Given the description of an element on the screen output the (x, y) to click on. 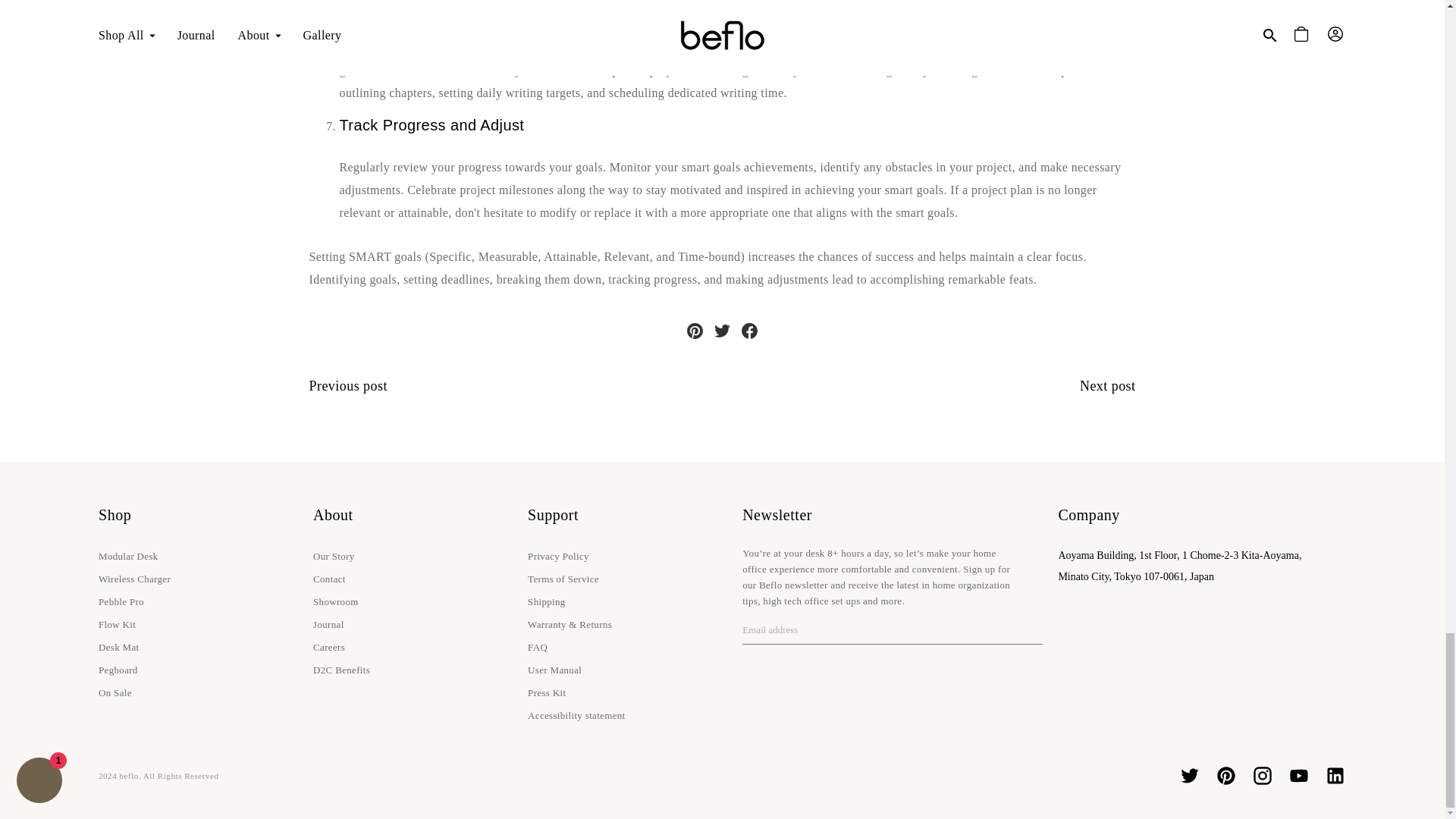
Share to Facebook (748, 330)
Share to twitter (721, 330)
beflo on Twitter (1189, 775)
beflo on Pinterest (1225, 775)
Share to Pinterest (694, 330)
beflo on Instagram (1262, 775)
